Given the description of an element on the screen output the (x, y) to click on. 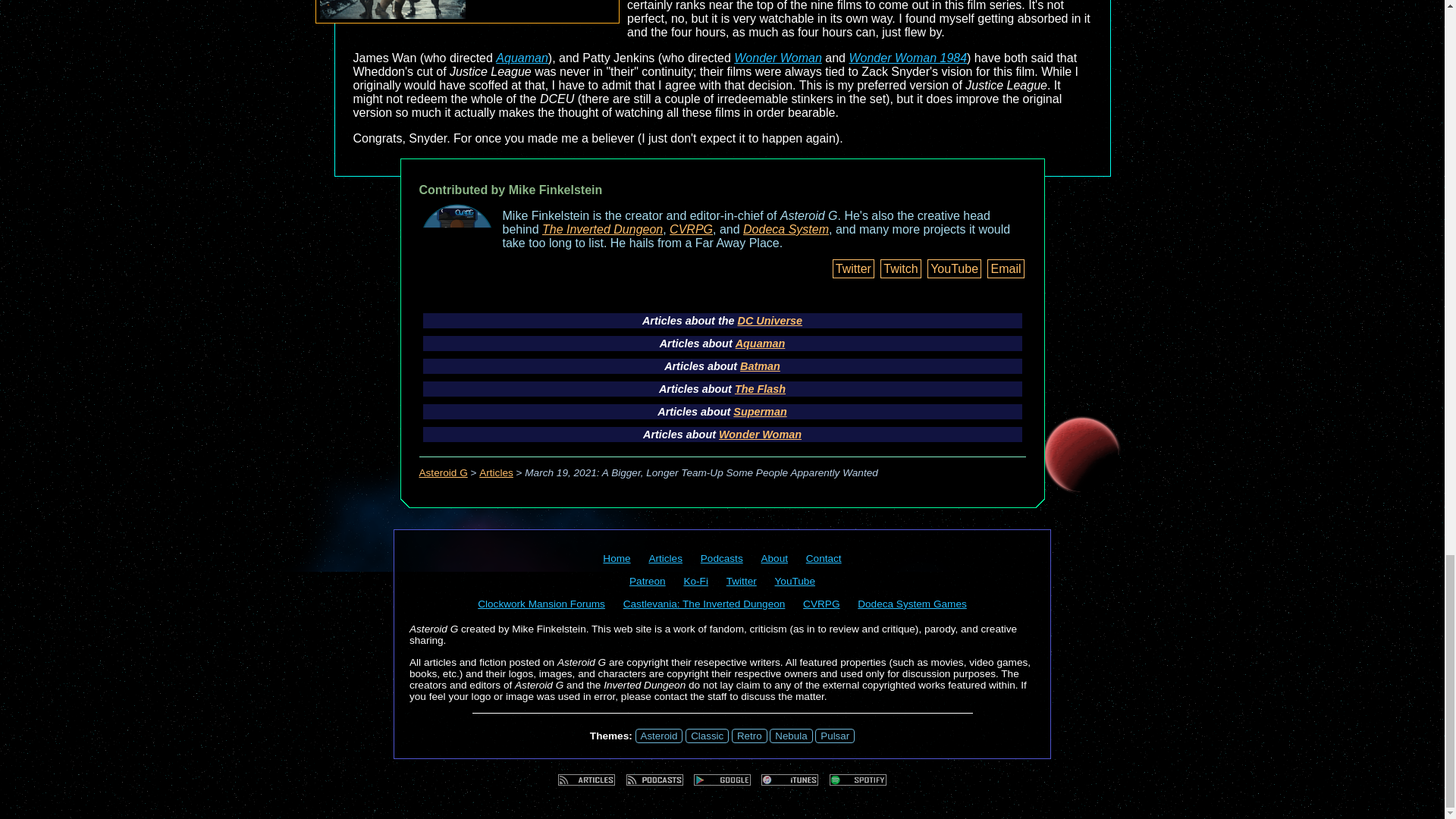
Castlevania: The Inverted Dungeon (704, 603)
Aquaman (522, 57)
Follow Asteroid G on Twitter (741, 581)
Donate on KoFi (694, 581)
DC Universe (769, 320)
Twitter (853, 268)
YouTube (954, 268)
Clockwork Mansion Forums (541, 603)
Wonder Woman 1984 (907, 57)
Podcasts (721, 558)
